Given the description of an element on the screen output the (x, y) to click on. 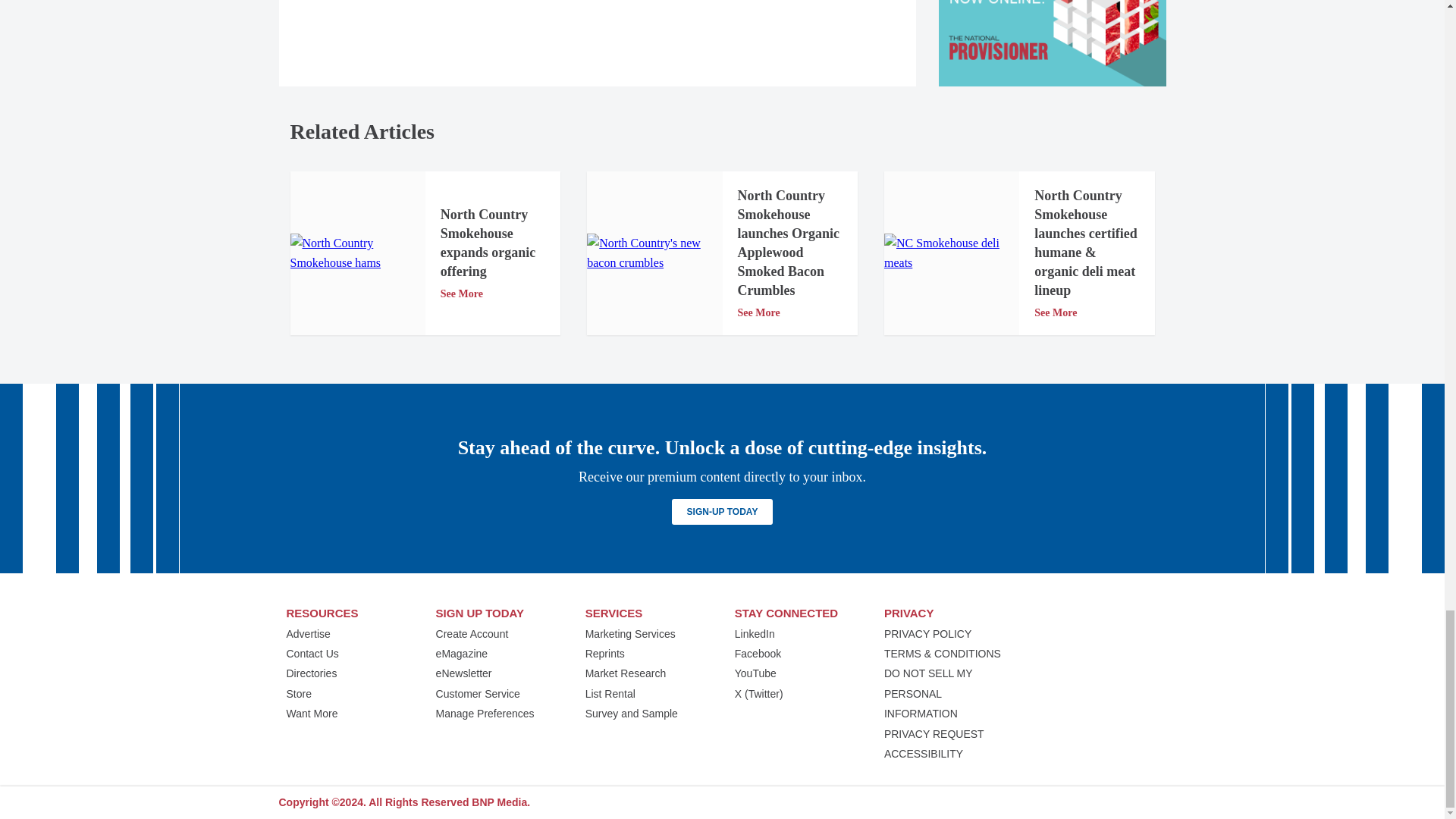
North Country's new bacon crumbles (654, 253)
NC Smokehouse deli meats (951, 253)
North Country Smokehouse hams (357, 253)
